Given the description of an element on the screen output the (x, y) to click on. 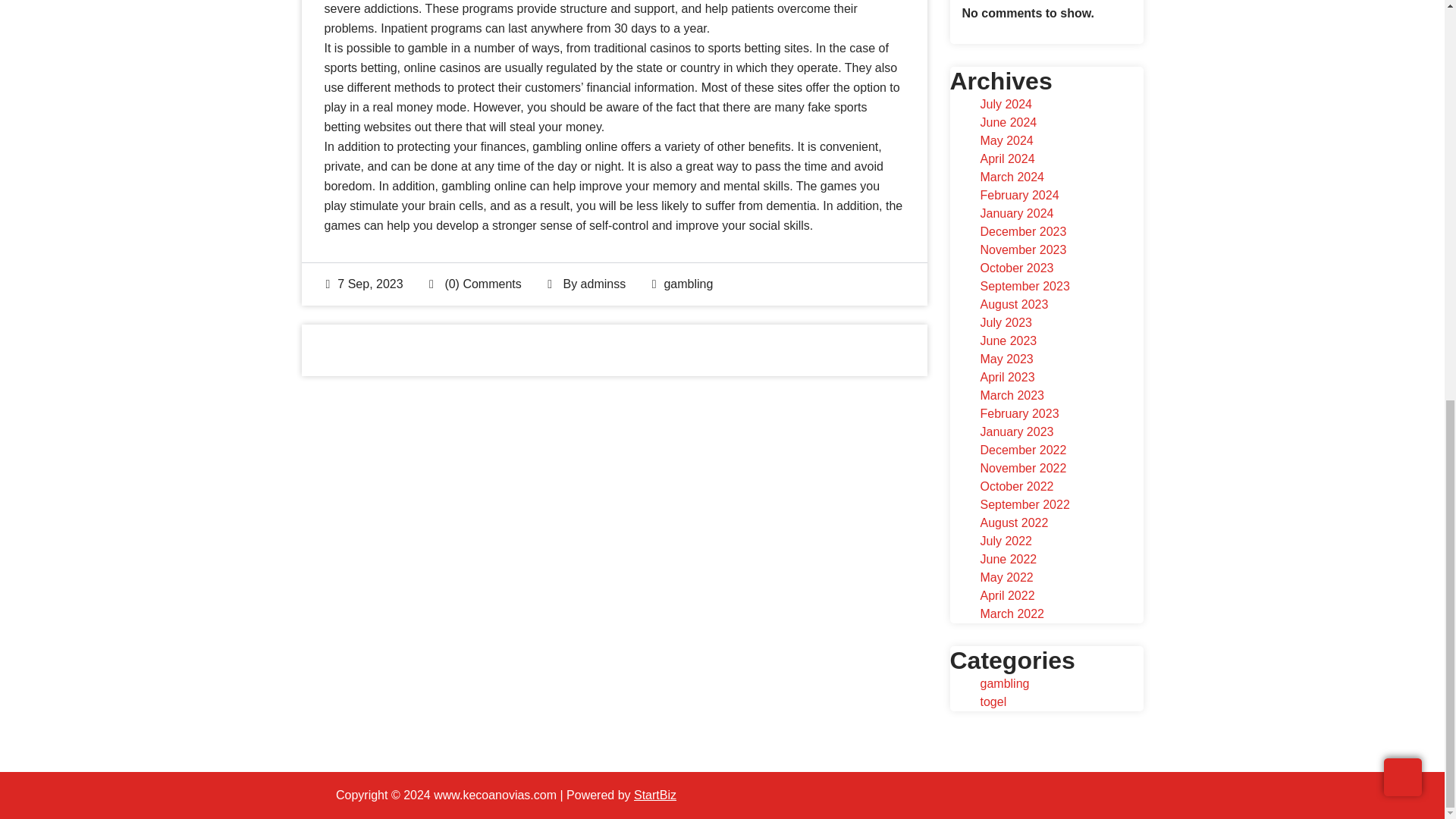
March 2024 (1011, 176)
November 2022 (1022, 468)
November 2023 (1022, 249)
June 2024 (1007, 122)
7 Sep, 2023 (364, 283)
July 2023 (1005, 322)
June 2023 (1007, 340)
May 2024 (1005, 140)
September 2023 (1023, 286)
January 2024 (1015, 213)
April 2024 (1006, 158)
January 2023 (1015, 431)
March 2023 (1011, 395)
October 2022 (1015, 486)
August 2023 (1013, 304)
